Given the description of an element on the screen output the (x, y) to click on. 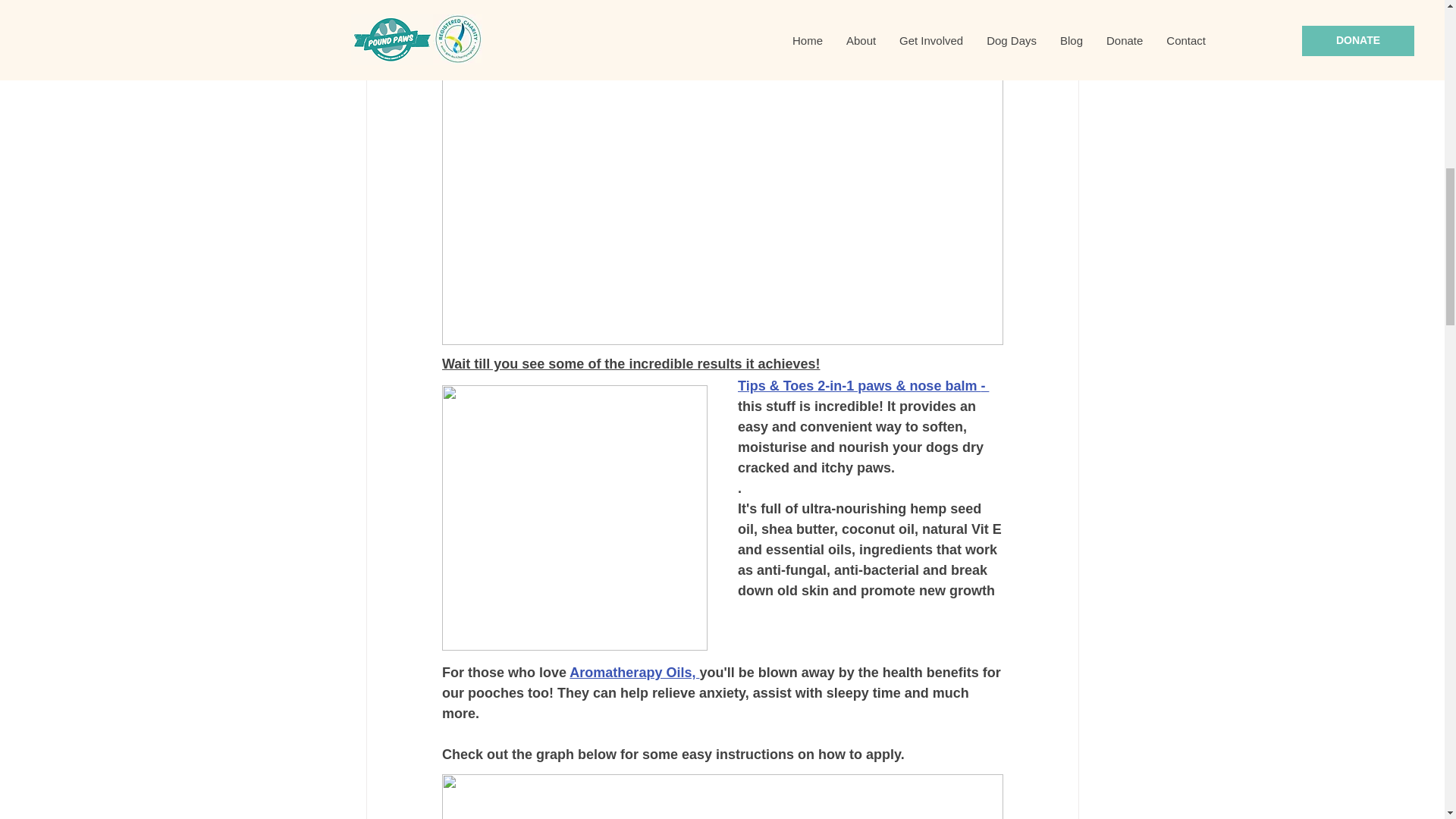
Aromatherapy Oils,  (633, 672)
